Given the description of an element on the screen output the (x, y) to click on. 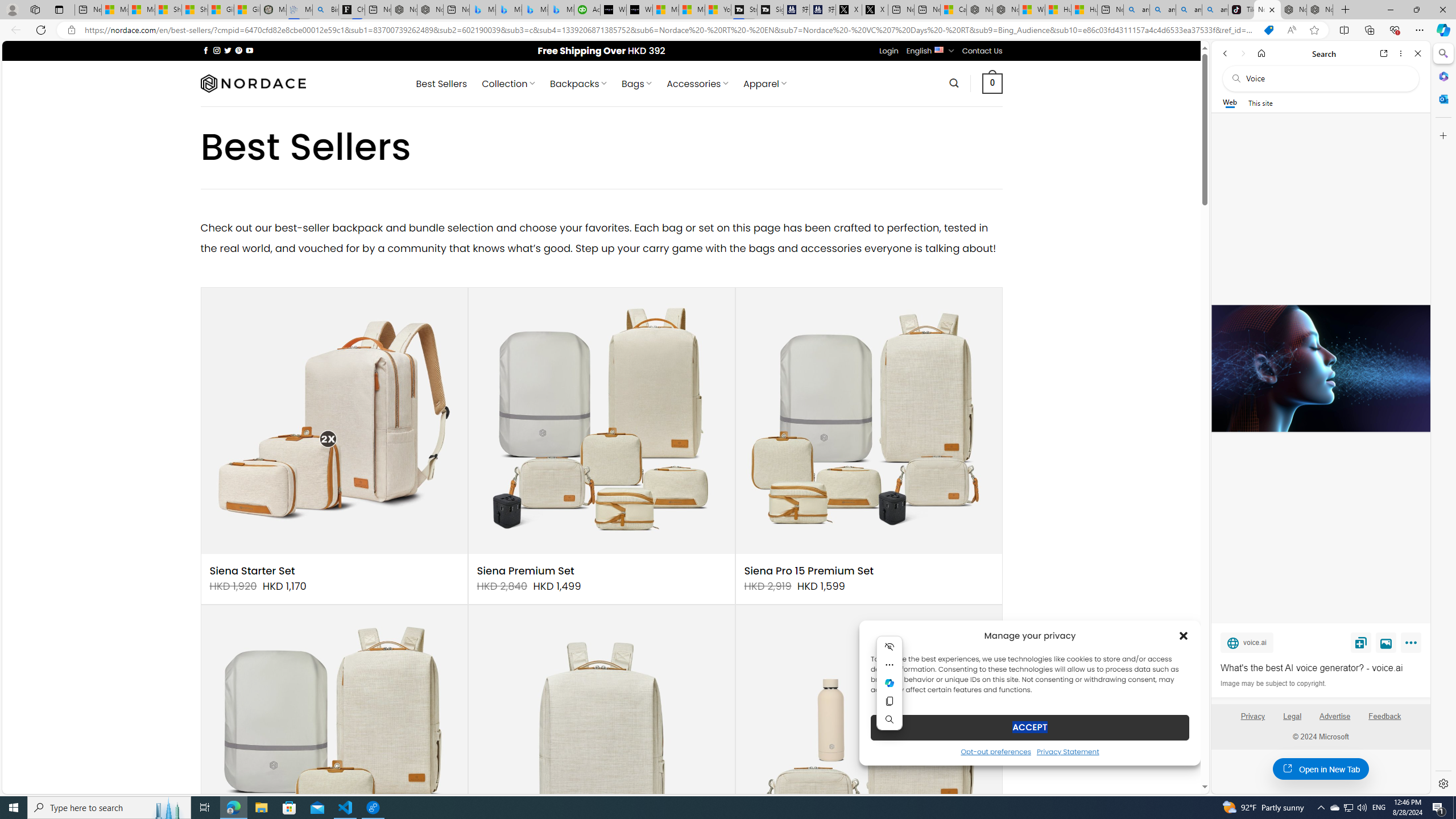
Ask Copilot (889, 683)
Nordace Siena Pro 15 Backpack (1293, 9)
Chloe Sorvino (351, 9)
Outlook (1442, 98)
voice.ai (1247, 642)
Follow on Instagram (216, 49)
